Given the description of an element on the screen output the (x, y) to click on. 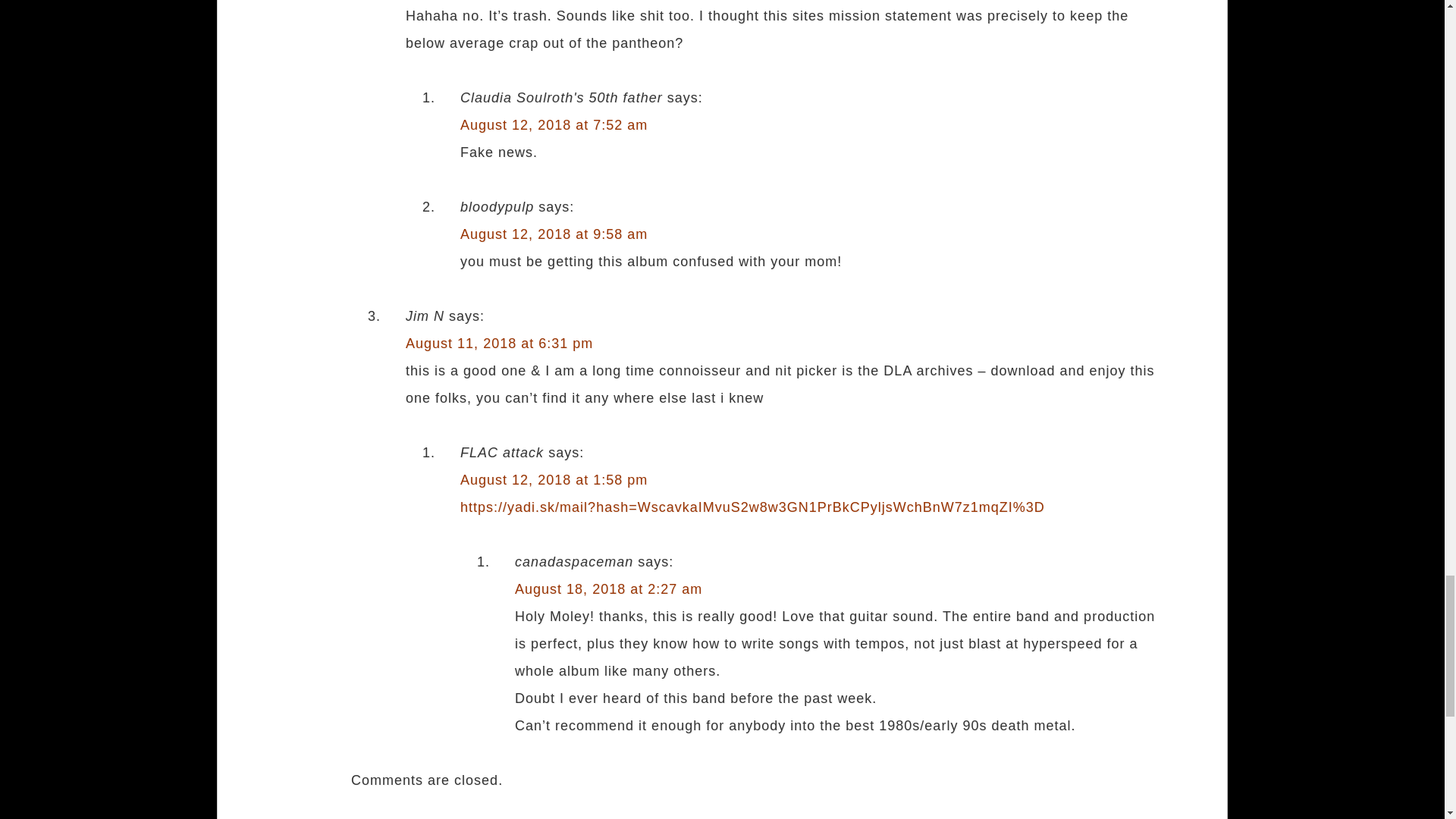
August 12, 2018 at 7:52 am (553, 124)
August 12, 2018 at 9:58 am (553, 233)
August 12, 2018 at 1:58 pm (553, 479)
August 11, 2018 at 6:31 pm (499, 343)
August 18, 2018 at 2:27 am (608, 589)
